Given the description of an element on the screen output the (x, y) to click on. 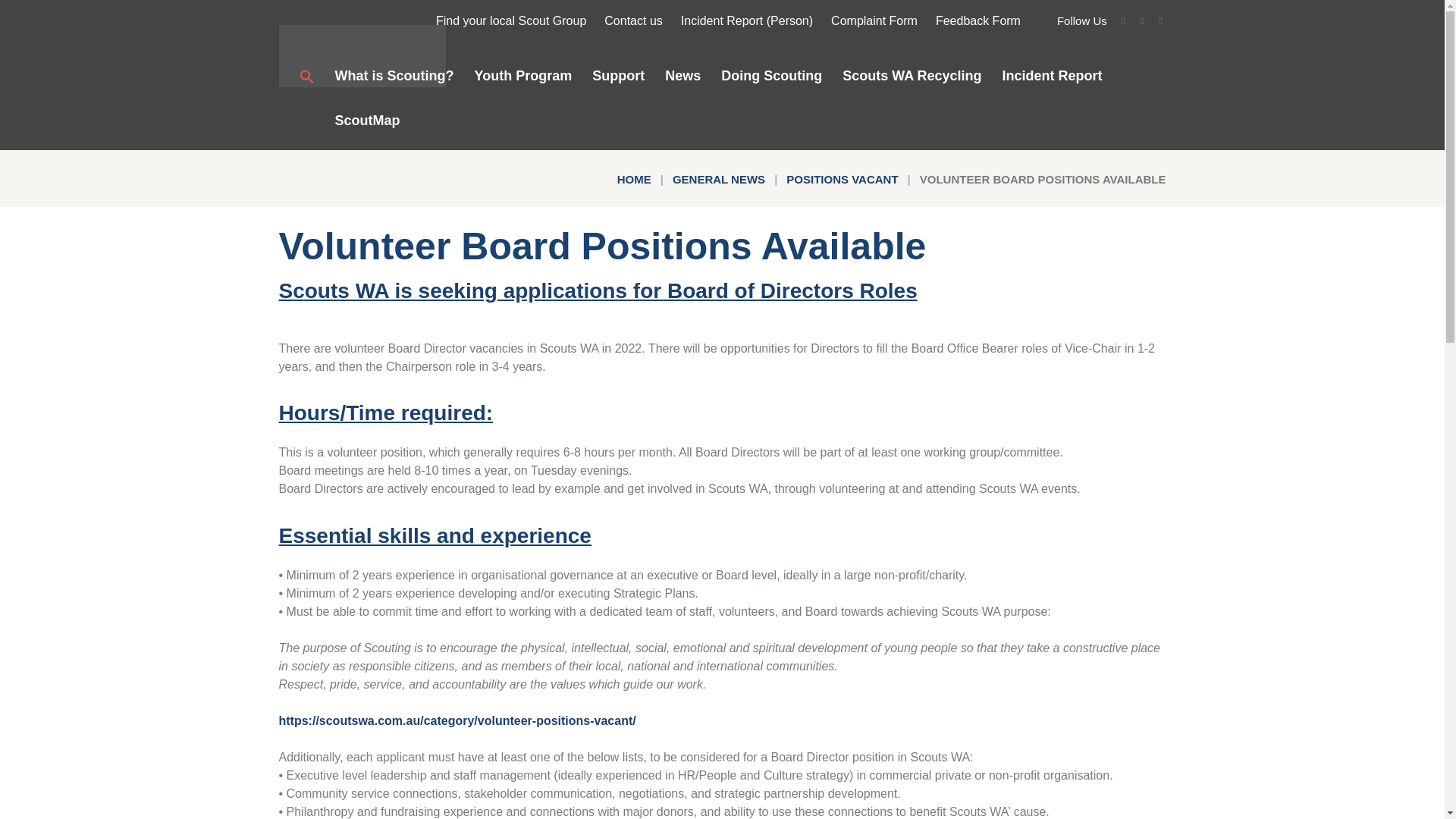
Feedback Form (978, 22)
What is Scouting? (383, 77)
Youth Program (512, 77)
Support (608, 77)
Find your local Scout Group (510, 22)
Complaint Form (874, 22)
Contact us (633, 22)
